Given the description of an element on the screen output the (x, y) to click on. 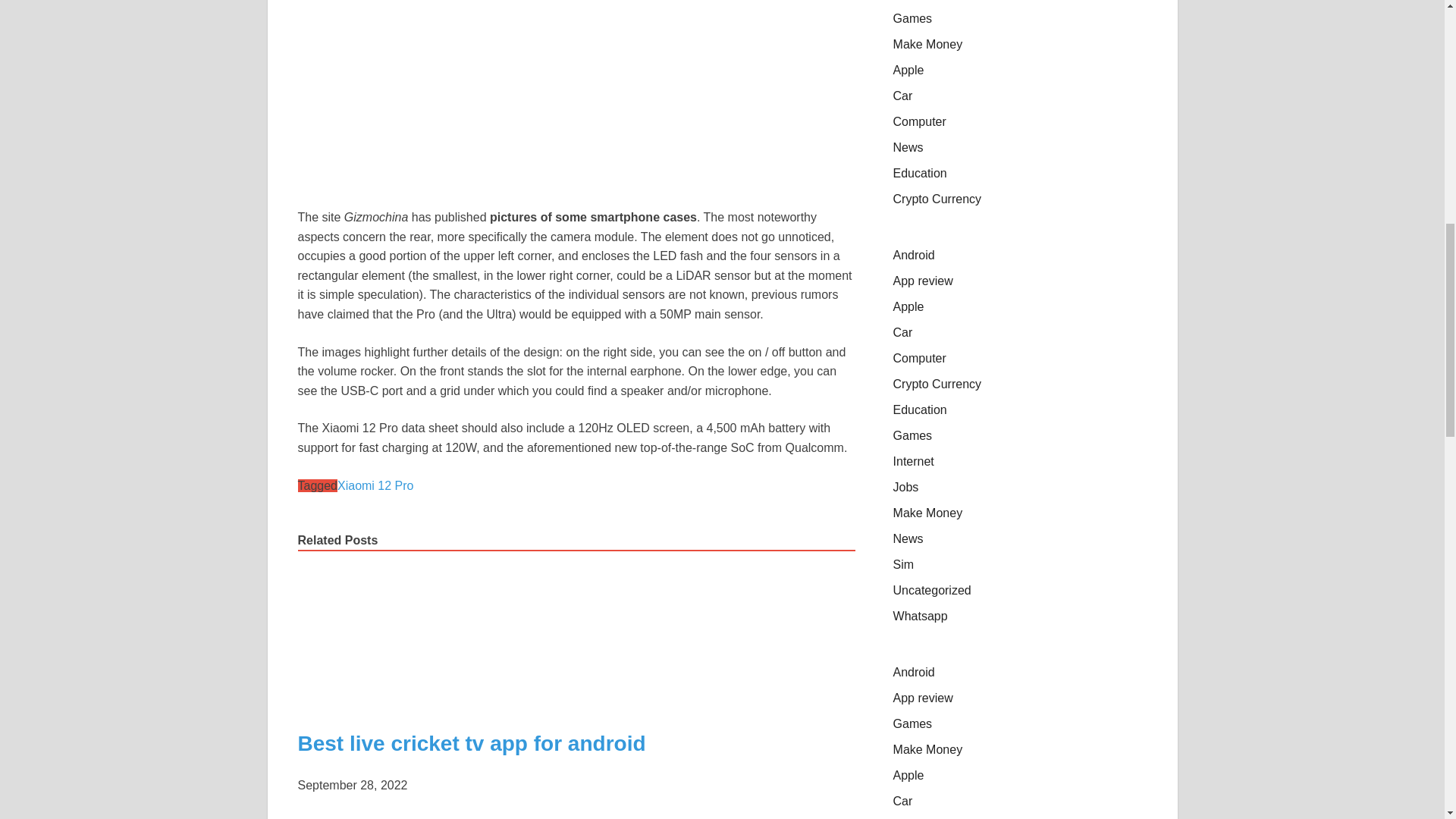
Best live cricket tv app for android (428, 700)
Xiaomi 12 Pro (375, 485)
Best live cricket tv app for android (471, 743)
Best live cricket tv app for android (471, 743)
